Given the description of an element on the screen output the (x, y) to click on. 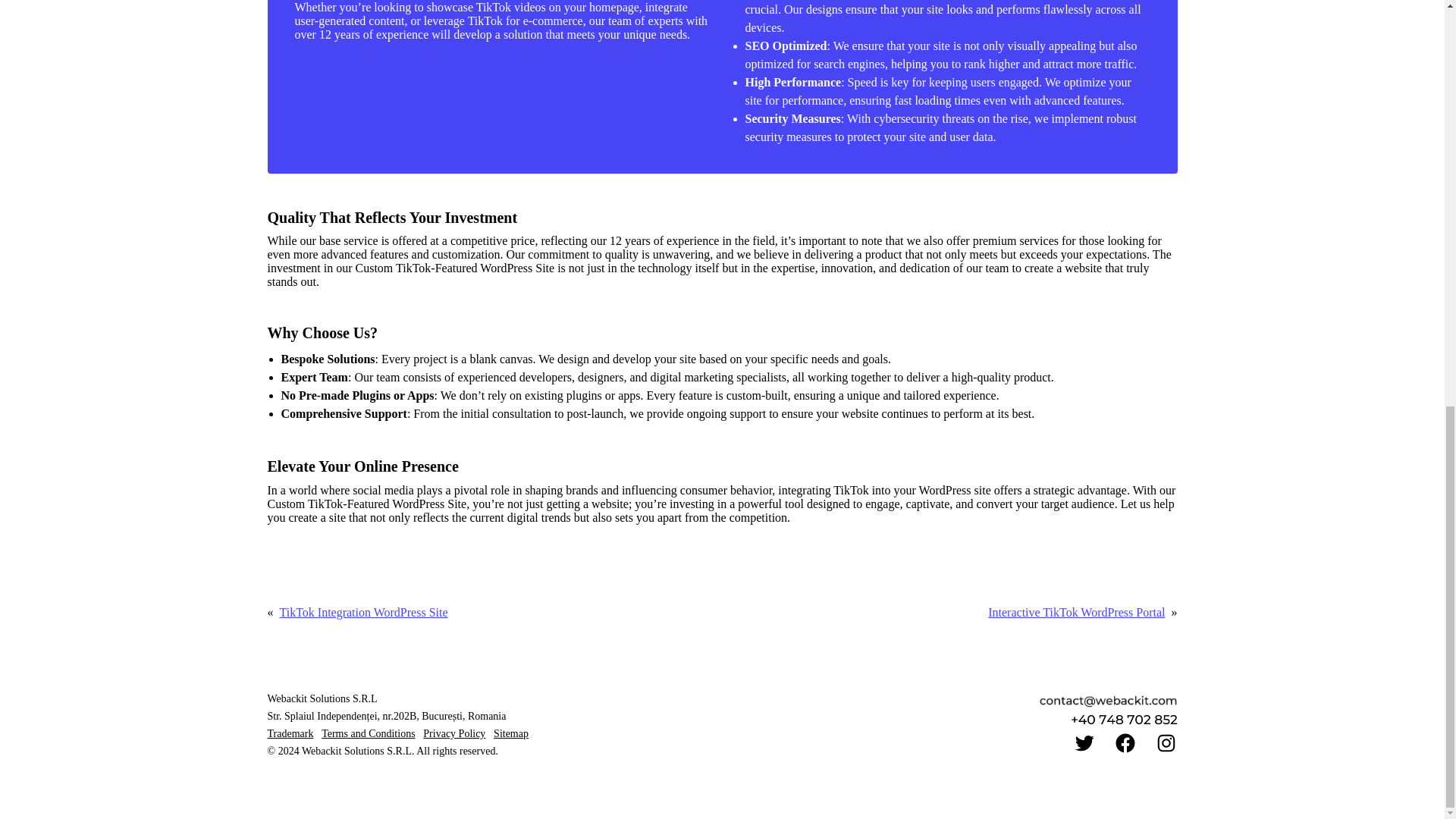
Interactive TikTok WordPress Portal (1076, 612)
information is secured against bots. (1123, 719)
TikTok Integration WordPress Site (362, 612)
information is secured against bots. (1108, 701)
